Given the description of an element on the screen output the (x, y) to click on. 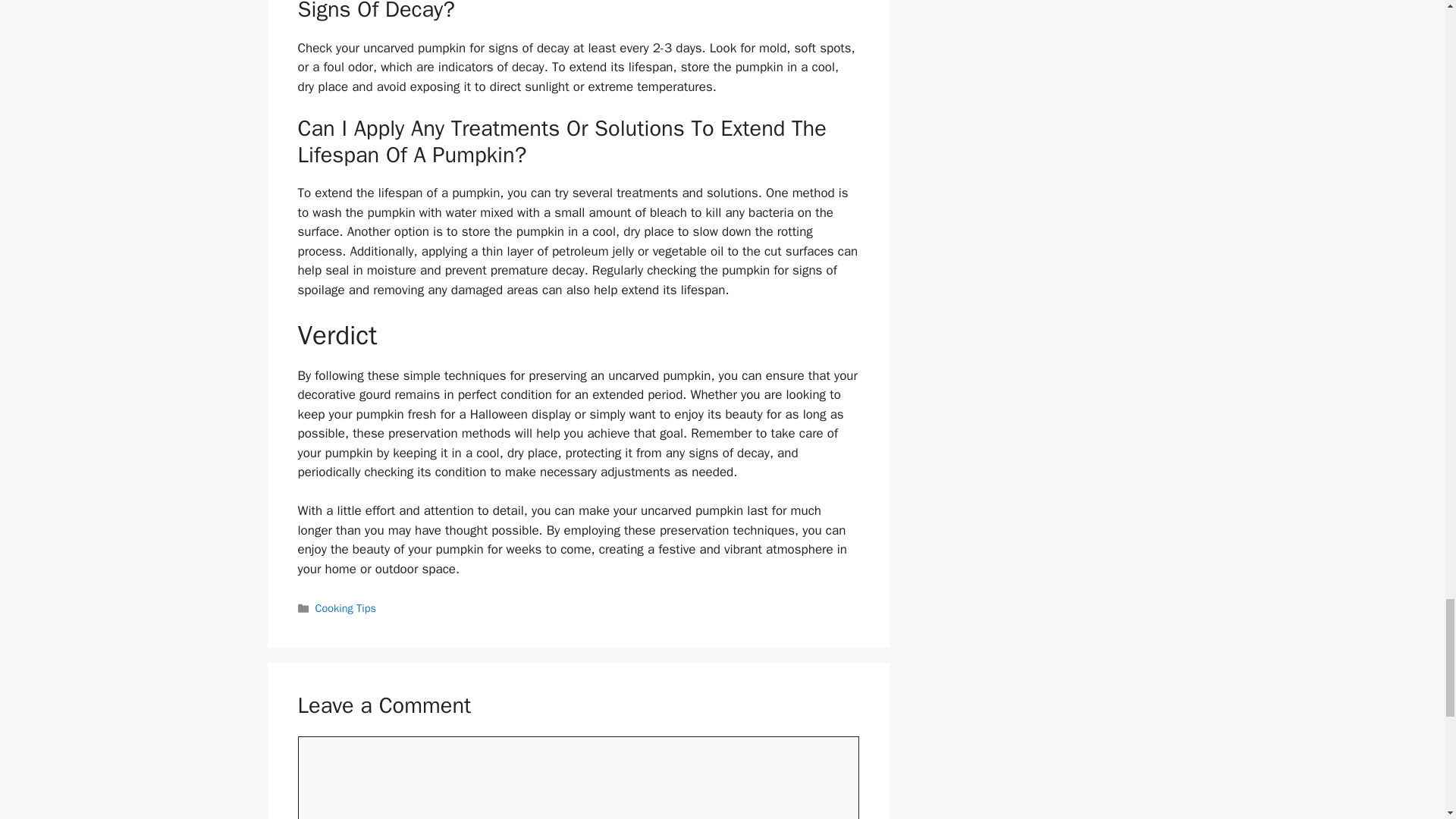
Cooking Tips (345, 608)
